Given the description of an element on the screen output the (x, y) to click on. 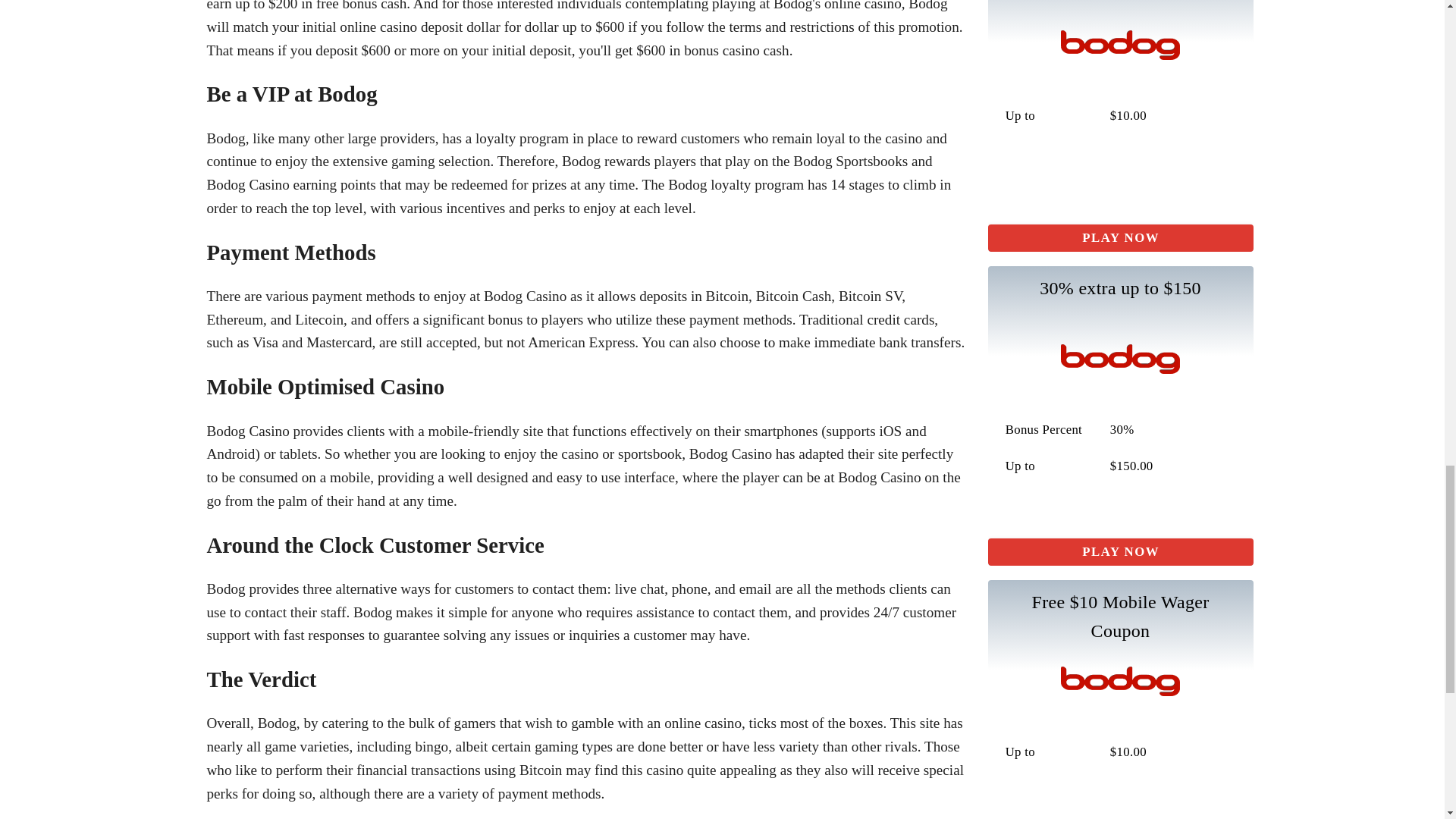
PLAY NOW (1119, 551)
PLAY NOW (1119, 237)
